Given the description of an element on the screen output the (x, y) to click on. 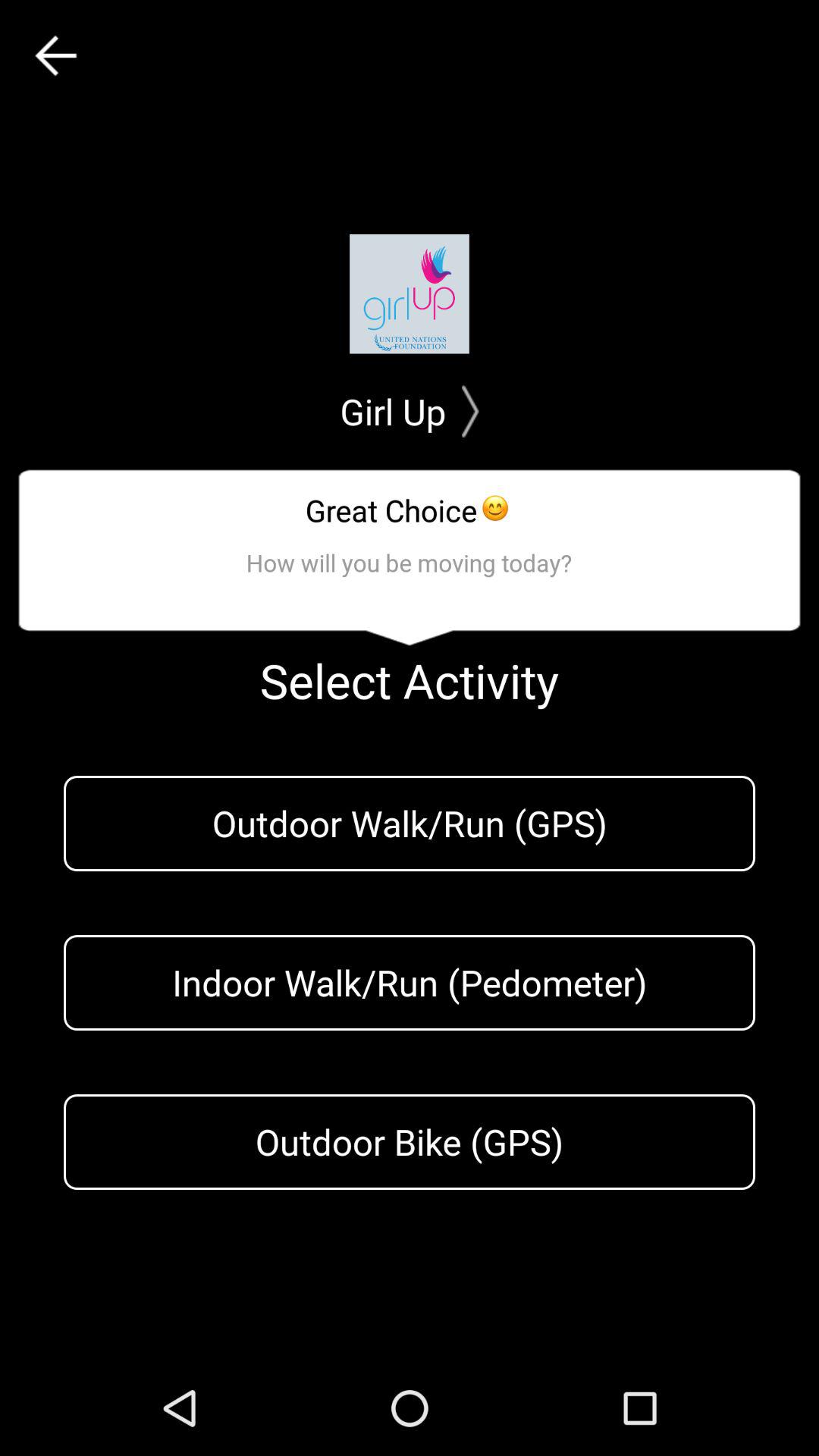
open girl up icon (409, 411)
